Given the description of an element on the screen output the (x, y) to click on. 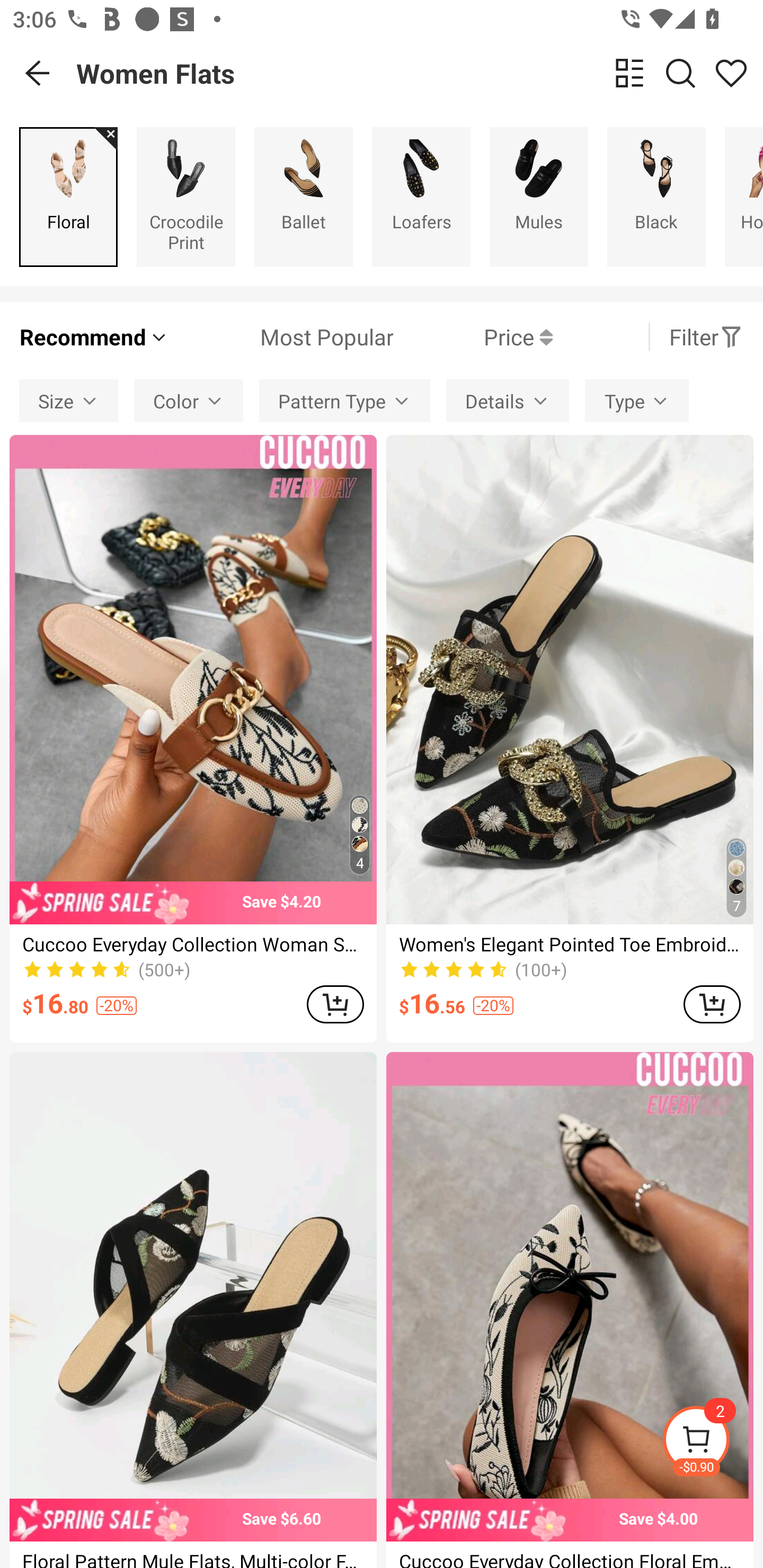
Women Flats change view Search Share (419, 72)
change view (629, 72)
Search (679, 72)
Share (730, 72)
Floral (68, 196)
Crocodile Print (185, 196)
Ballet (303, 196)
Loafers (421, 196)
Mules (538, 196)
Black (656, 196)
Recommend (94, 336)
Most Popular (280, 336)
Price (472, 336)
Filter (705, 336)
Size (68, 400)
Color (188, 400)
Pattern Type (344, 400)
Details (507, 400)
Type (636, 400)
ADD TO CART (334, 1003)
ADD TO CART (711, 1003)
-$0.90 (712, 1441)
